Given the description of an element on the screen output the (x, y) to click on. 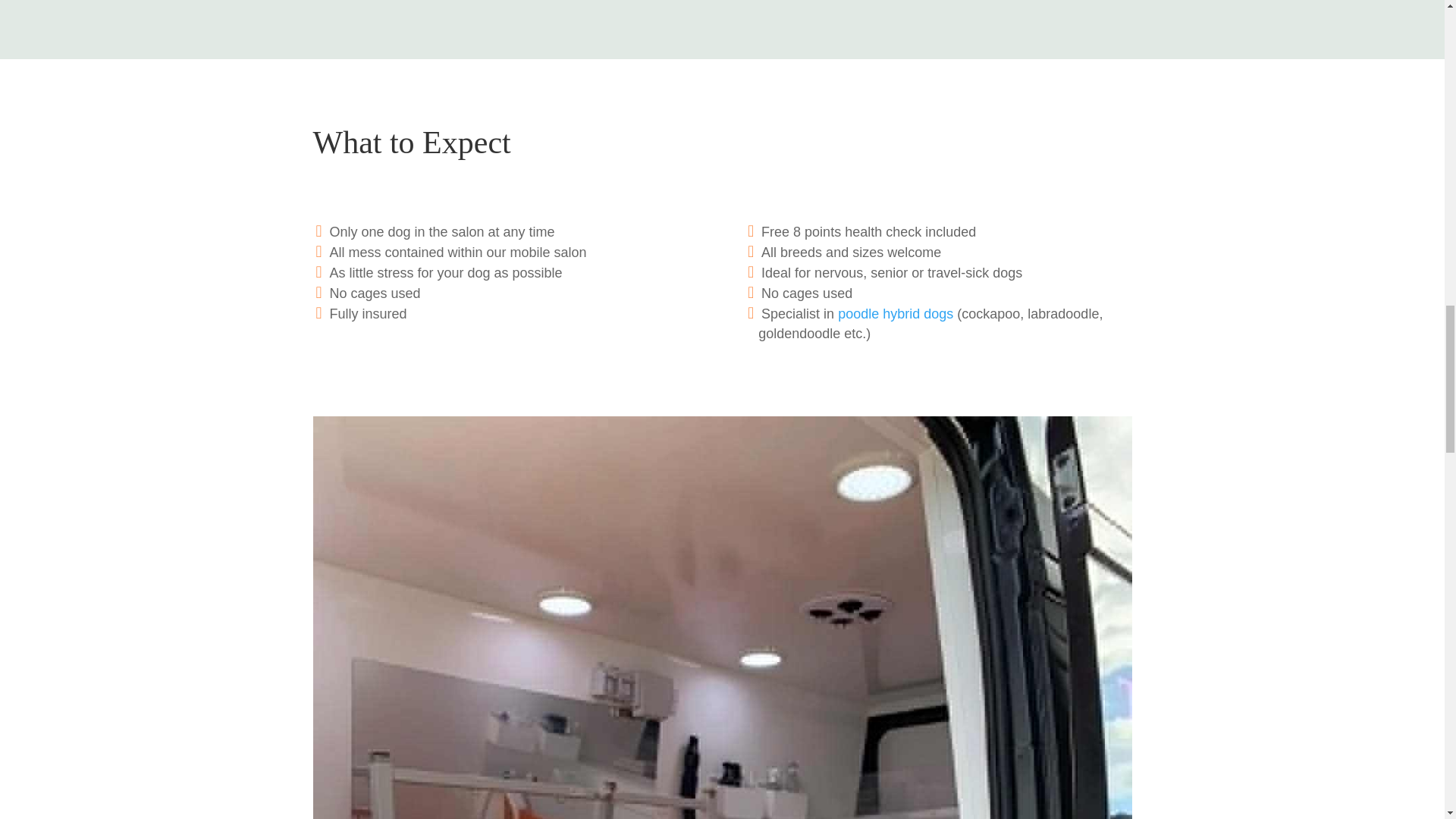
poodle hybrid dogs (895, 313)
